Given the description of an element on the screen output the (x, y) to click on. 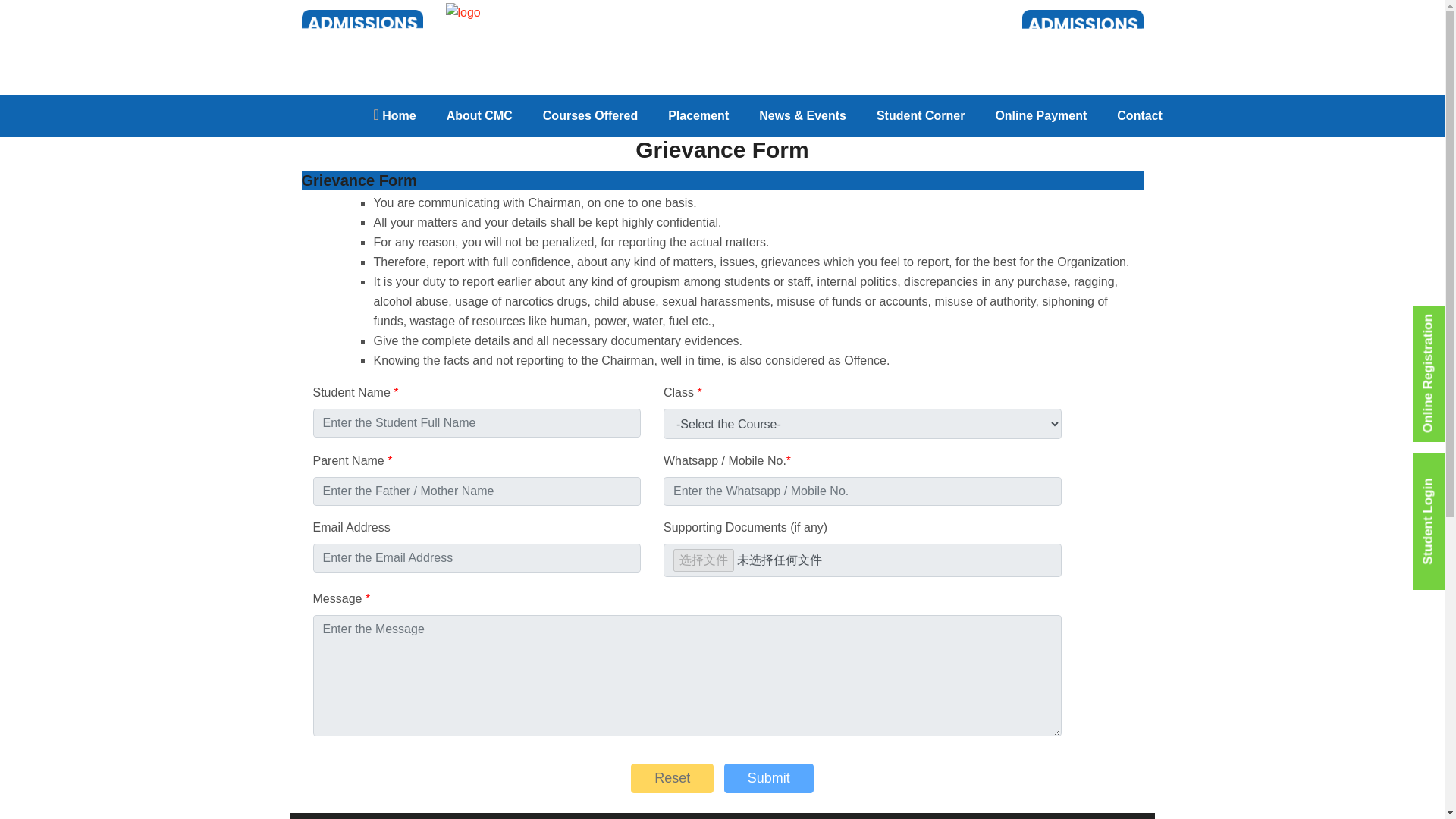
Home (393, 115)
Placement (698, 115)
Student Corner (919, 115)
About CMC (479, 115)
Courses Offered (590, 115)
